Given the description of an element on the screen output the (x, y) to click on. 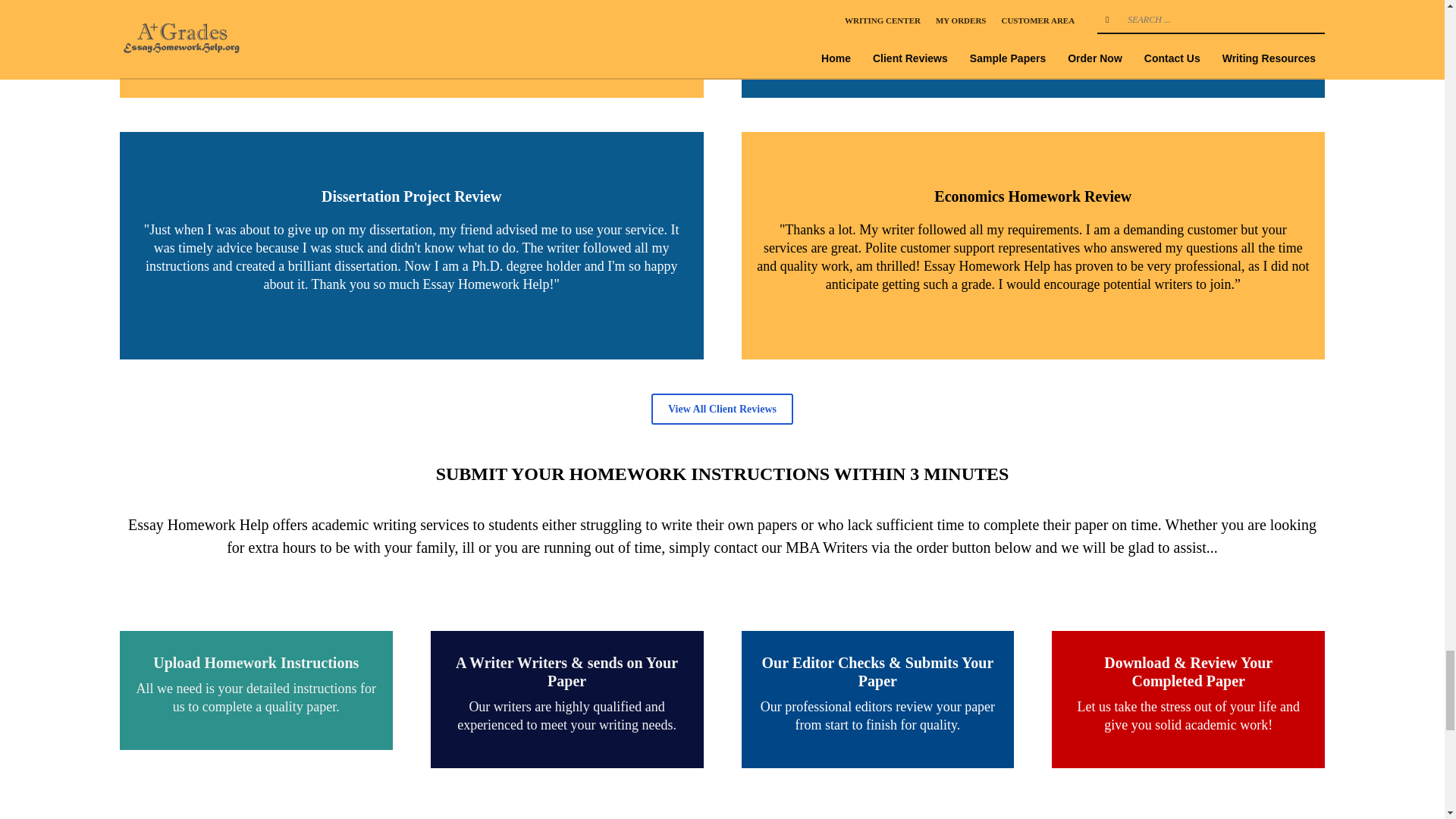
View All Client Reviews (721, 409)
